Given the description of an element on the screen output the (x, y) to click on. 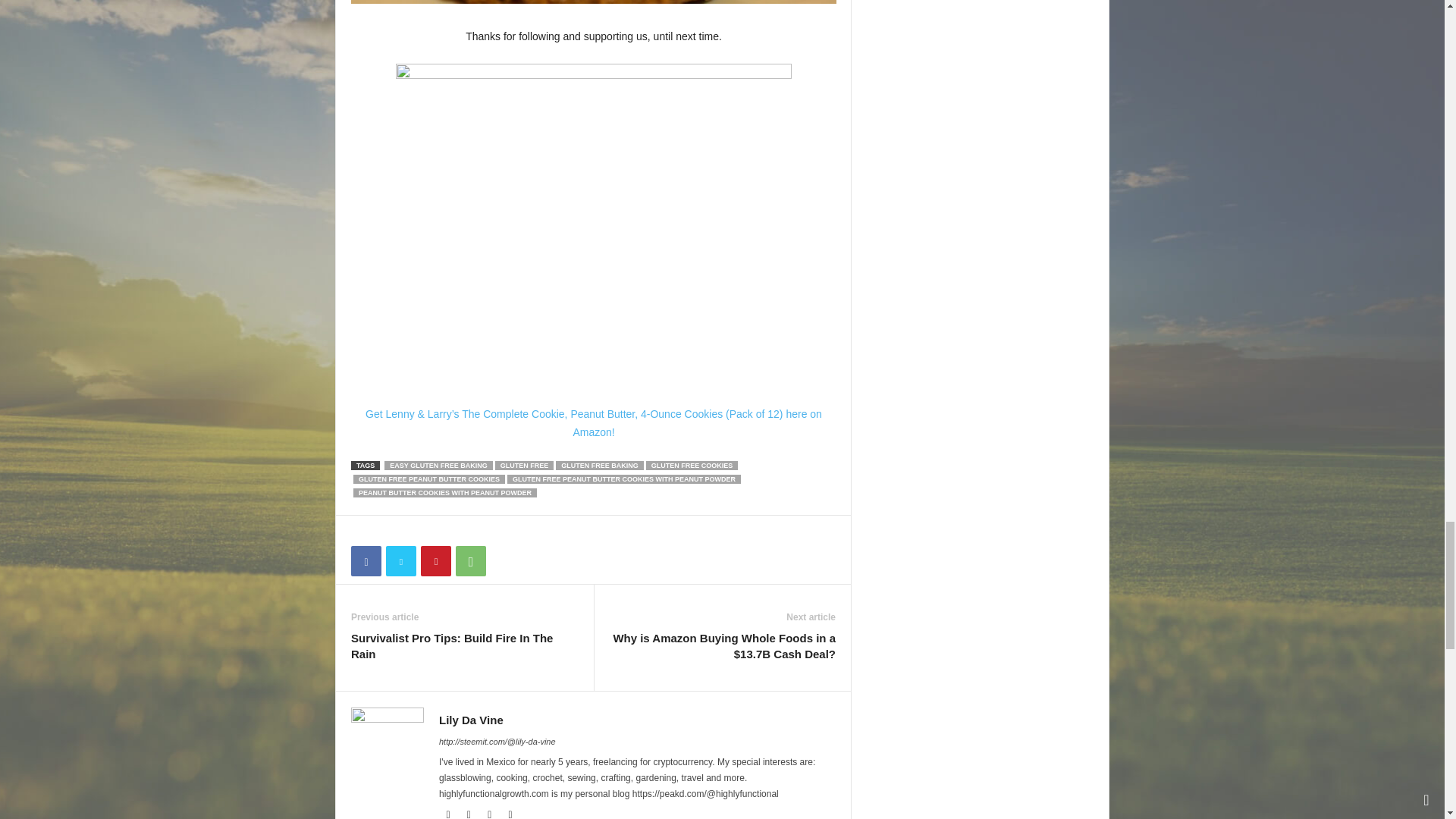
Pinterest (435, 561)
Twitter (400, 561)
Facebook (365, 561)
WhatsApp (470, 561)
bottomFacebookLike (390, 530)
